Given the description of an element on the screen output the (x, y) to click on. 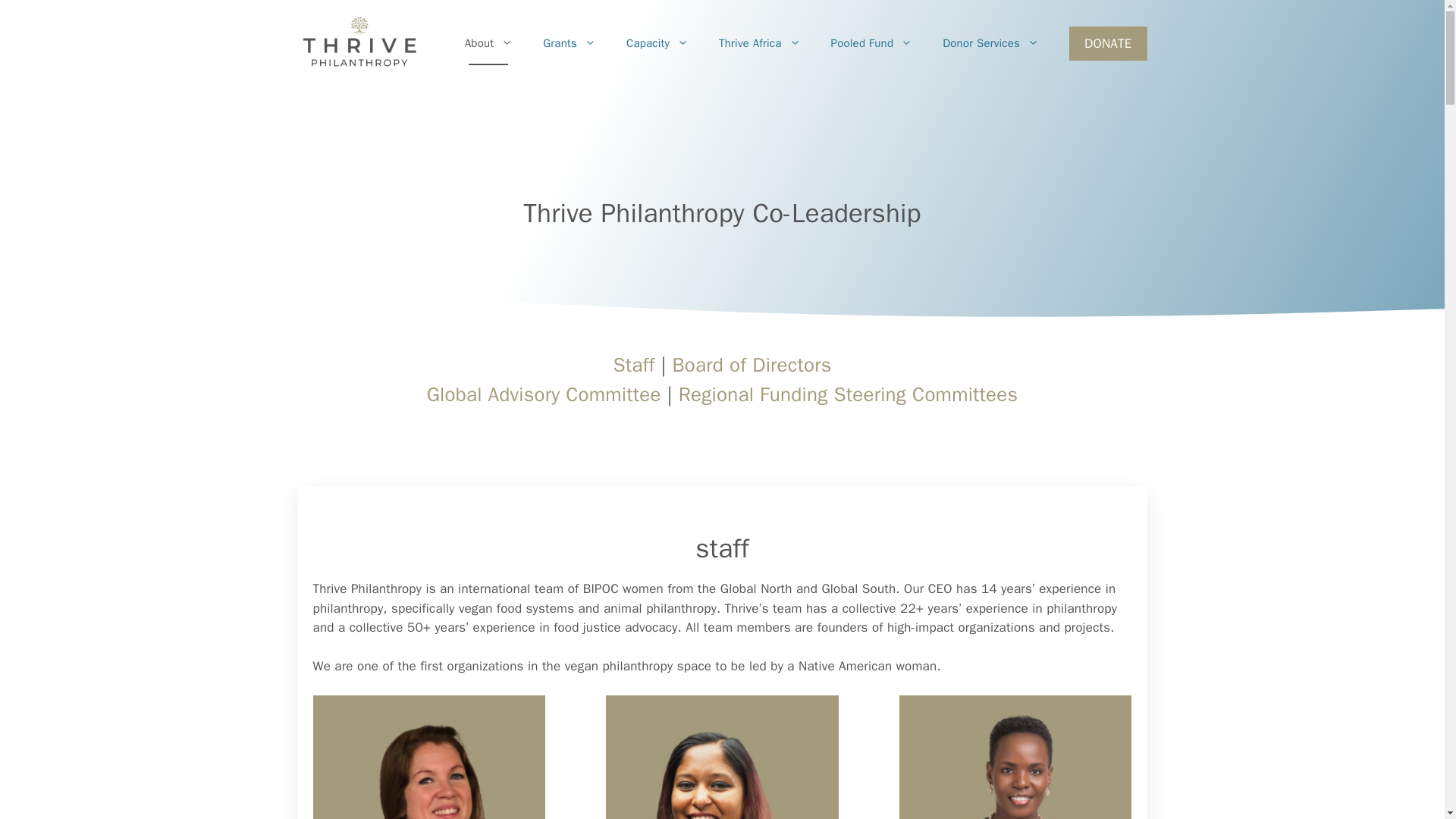
Pooled Fund (871, 43)
Capacity (657, 43)
2 (721, 757)
3 (1015, 757)
Grants (569, 43)
Donor Services (990, 43)
About (488, 43)
Thrive Africa (759, 43)
Staff (632, 364)
1 (428, 757)
Board of Directors (751, 364)
DONATE (1107, 43)
